Given the description of an element on the screen output the (x, y) to click on. 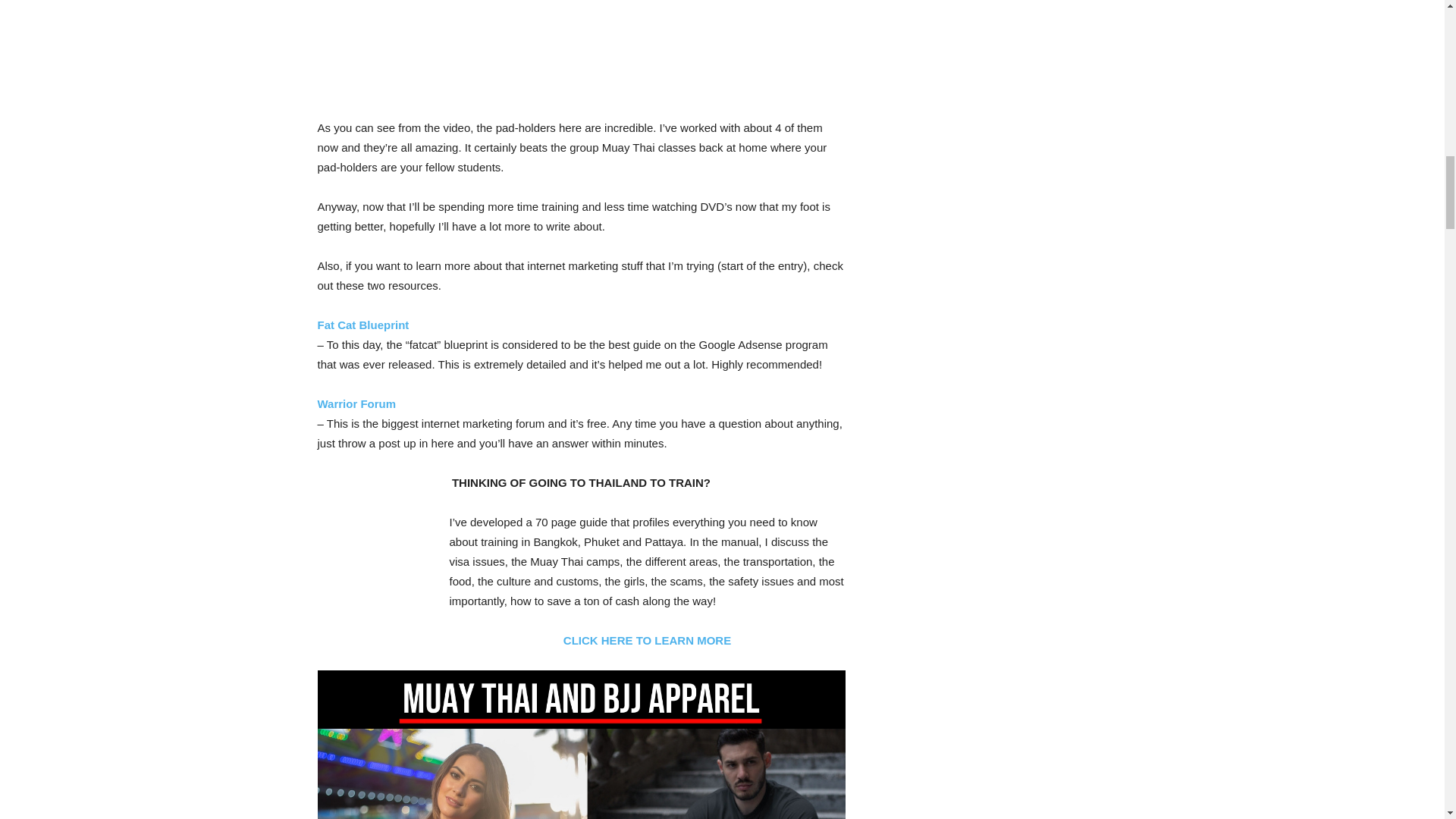
muay thai camps guide (373, 573)
Warrior Forum (356, 403)
Fat Cat Blueprint (363, 324)
CLICK HERE TO LEARN MORE (646, 640)
